Given the description of an element on the screen output the (x, y) to click on. 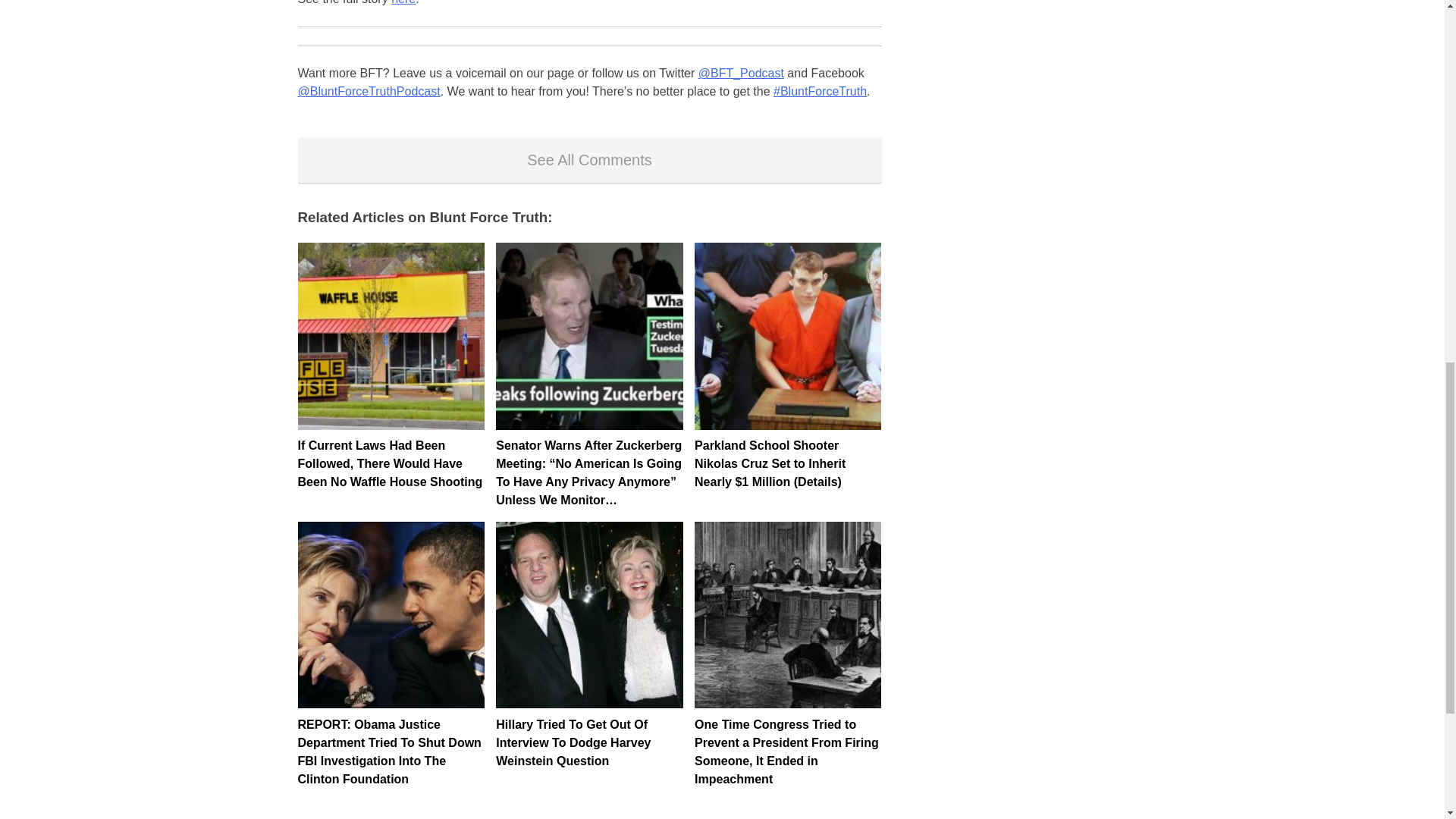
here (402, 2)
See All Comments (588, 159)
